Given the description of an element on the screen output the (x, y) to click on. 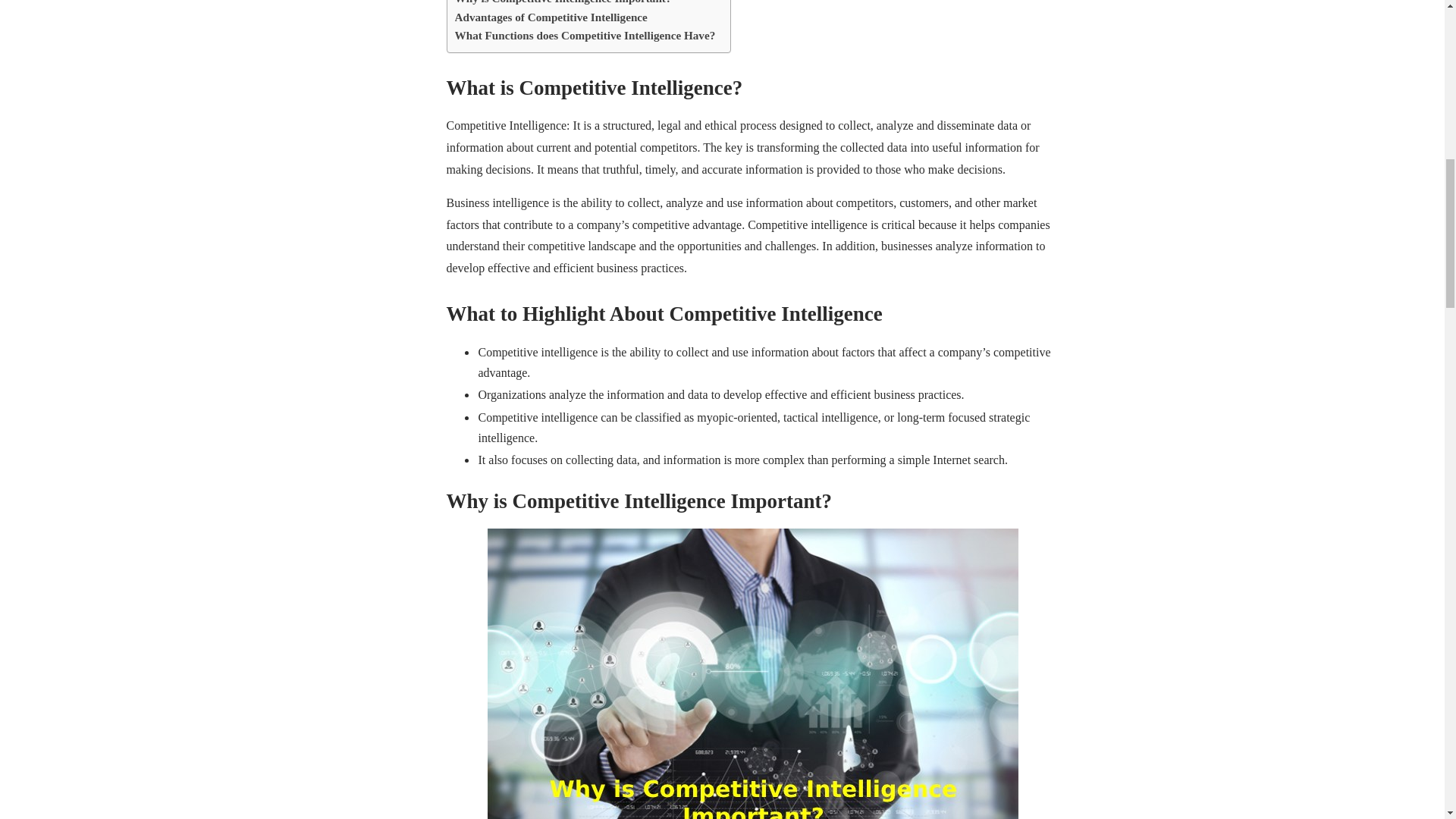
What Functions does Competitive Intelligence Have? (585, 35)
Why is Competitive Intelligence Important? (562, 3)
Advantages of Competitive Intelligence (550, 17)
